Given the description of an element on the screen output the (x, y) to click on. 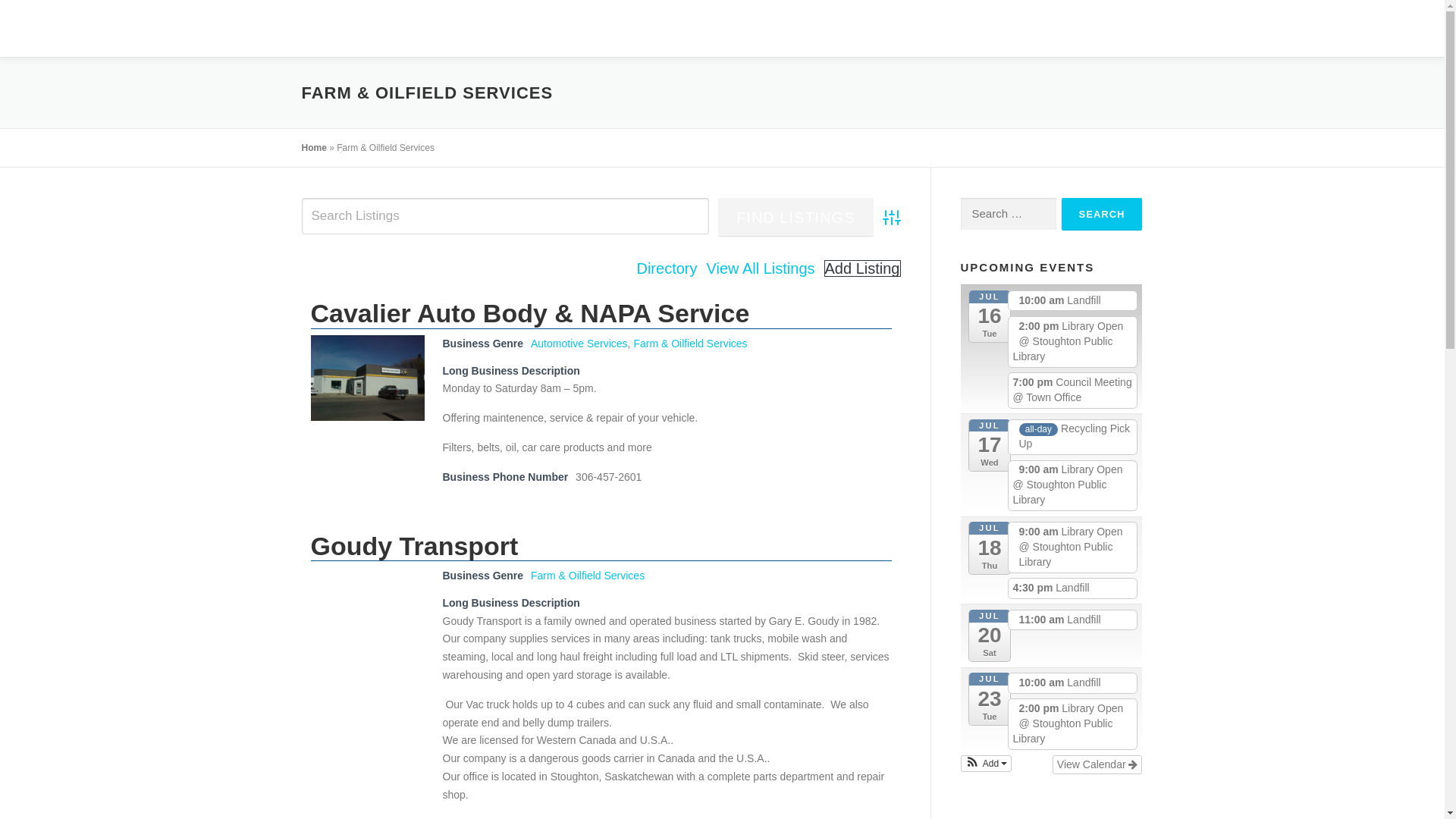
RECREATION (975, 28)
Find Listings (794, 217)
Directory (666, 268)
ANNOUNCEMENTS (678, 28)
CALENDAR (883, 28)
Add Listing (862, 268)
Home (313, 147)
Search (1101, 214)
FORMS (1318, 28)
Find Listings (794, 217)
ABOUT US (1386, 28)
CEMETERY (1139, 28)
View All Listings (759, 268)
Automotive Services (579, 343)
HOME (585, 28)
